Given the description of an element on the screen output the (x, y) to click on. 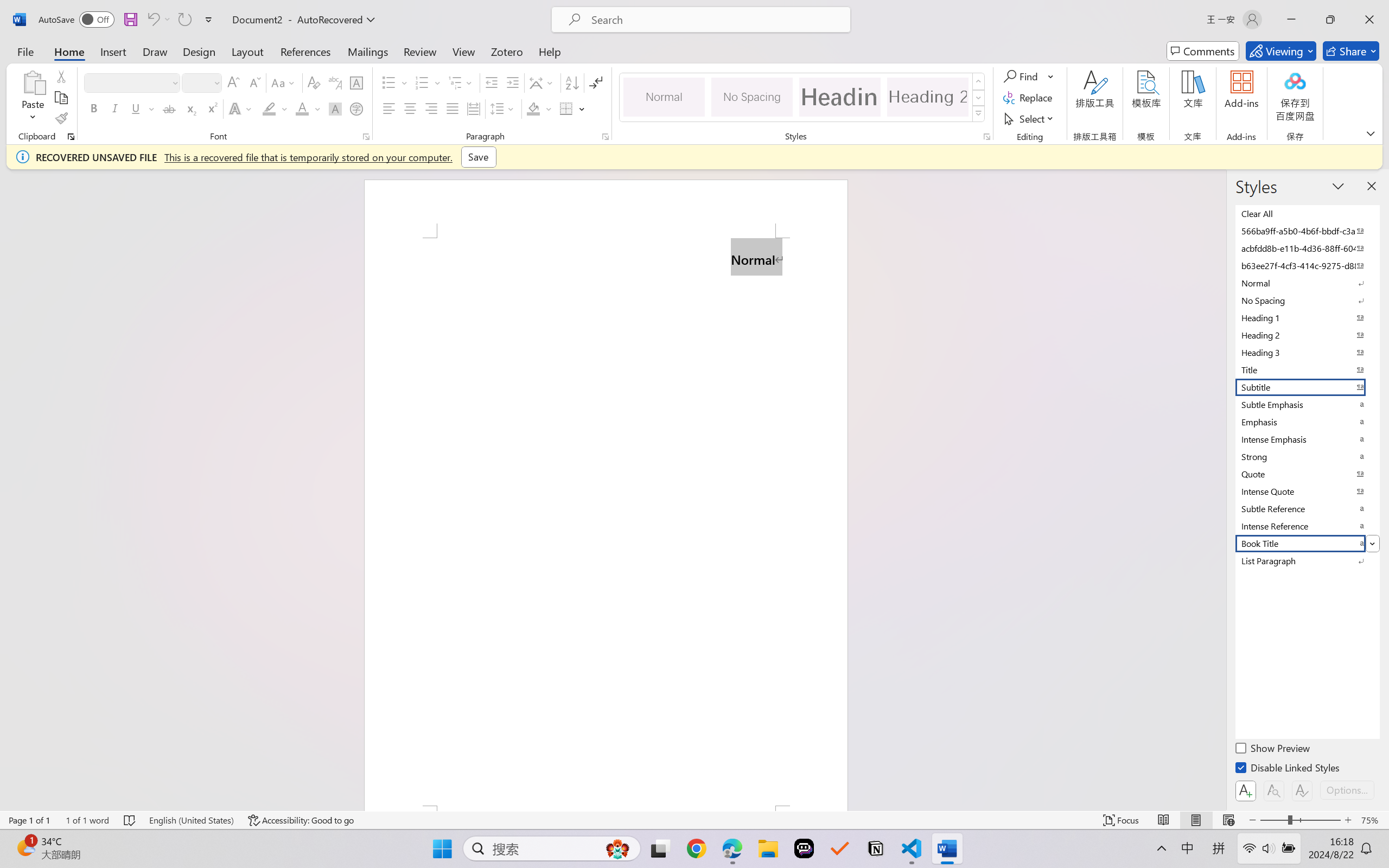
Zoom 75% (1372, 819)
Paragraph... (605, 136)
Font Color RGB(255, 0, 0) (302, 108)
Show/Hide Editing Marks (595, 82)
Row Down (978, 97)
Align Right (431, 108)
Title (1306, 369)
Italic (115, 108)
Styles (978, 113)
Sort... (571, 82)
